Given the description of an element on the screen output the (x, y) to click on. 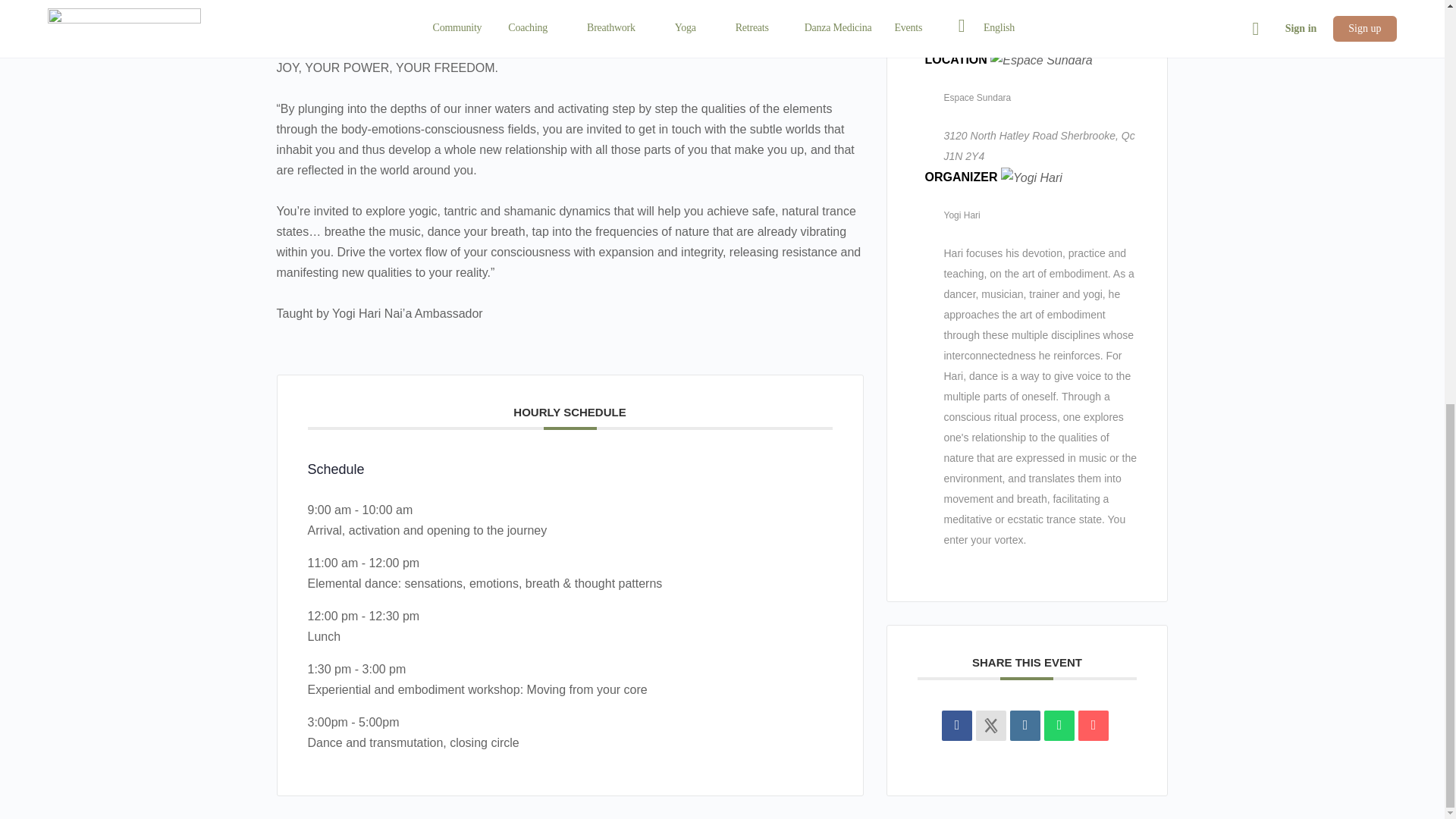
Share on Facebook (957, 190)
X Social Network (990, 190)
Email (1093, 190)
Share on WhatsApp (1058, 190)
Linkedin (1025, 190)
